Given the description of an element on the screen output the (x, y) to click on. 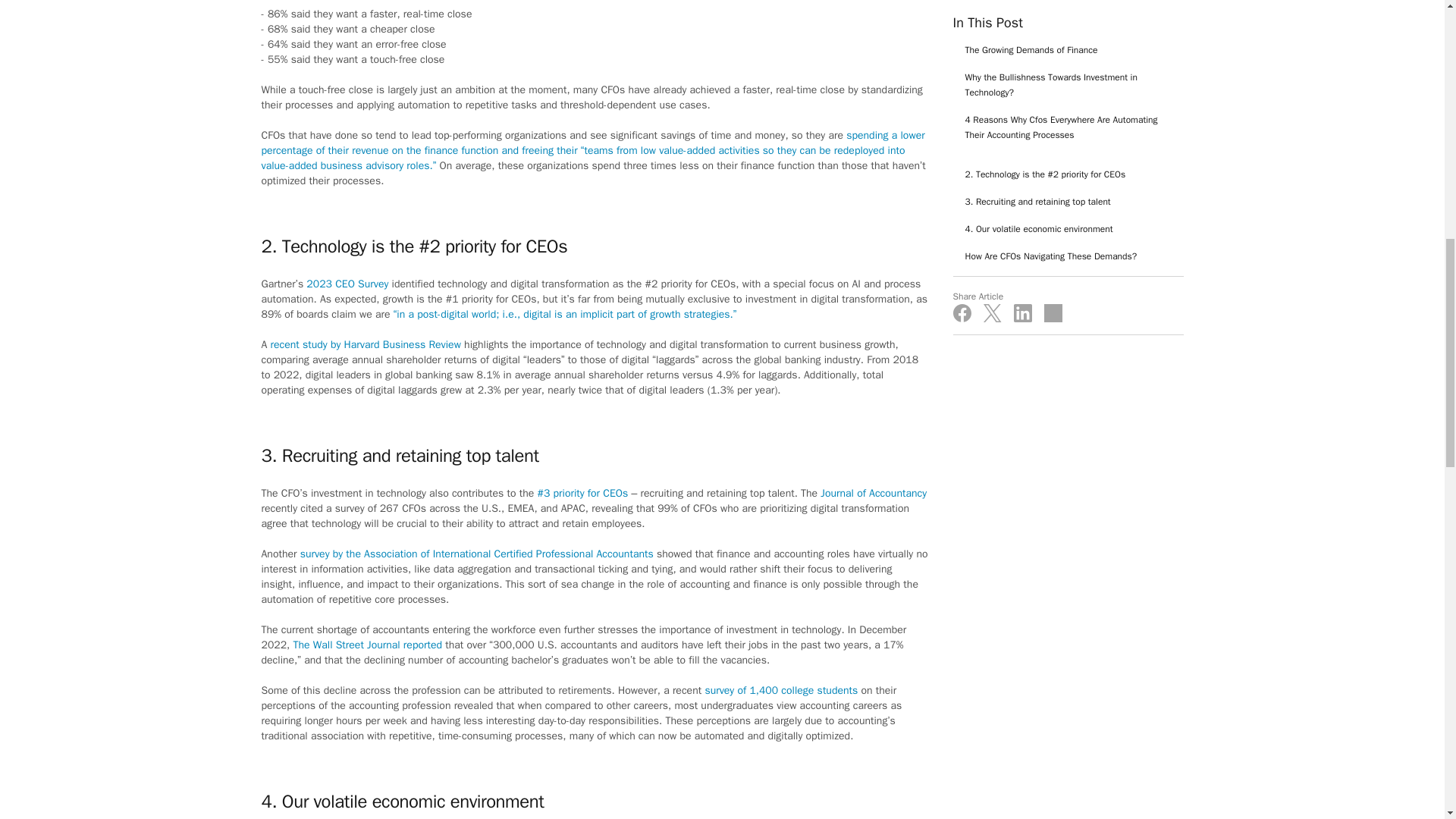
Journal of Accountancy (873, 492)
The Wall Street Journal reported (367, 644)
2023 CEO Survey (346, 283)
recent study by Harvard Business Review (365, 344)
survey of 1,400 college students (780, 689)
